Given the description of an element on the screen output the (x, y) to click on. 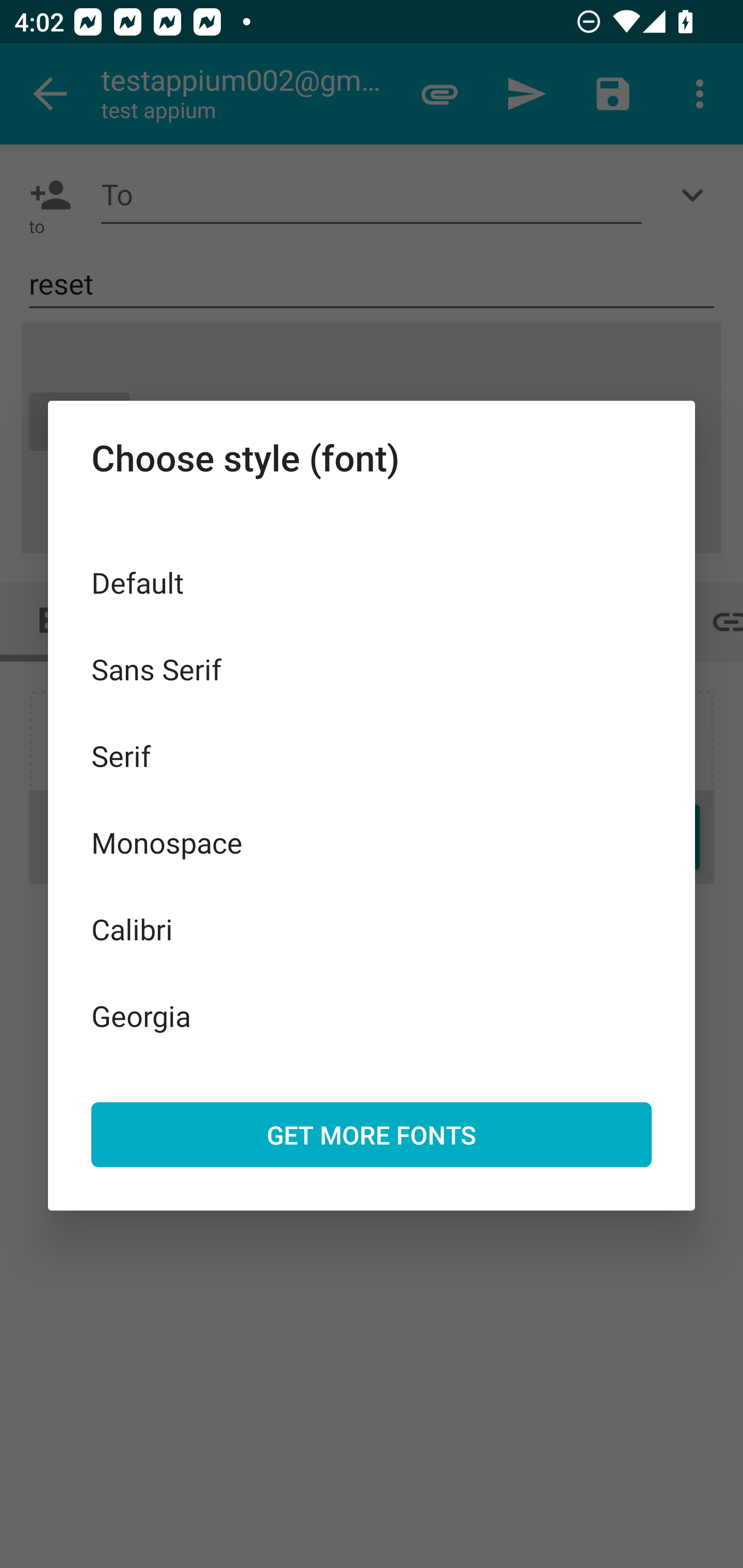
Default (371, 582)
Sans Serif (371, 668)
Serif (371, 755)
Monospace (371, 842)
Calibri (371, 928)
Georgia (371, 1015)
GET MORE FONTS (371, 1134)
